Given the description of an element on the screen output the (x, y) to click on. 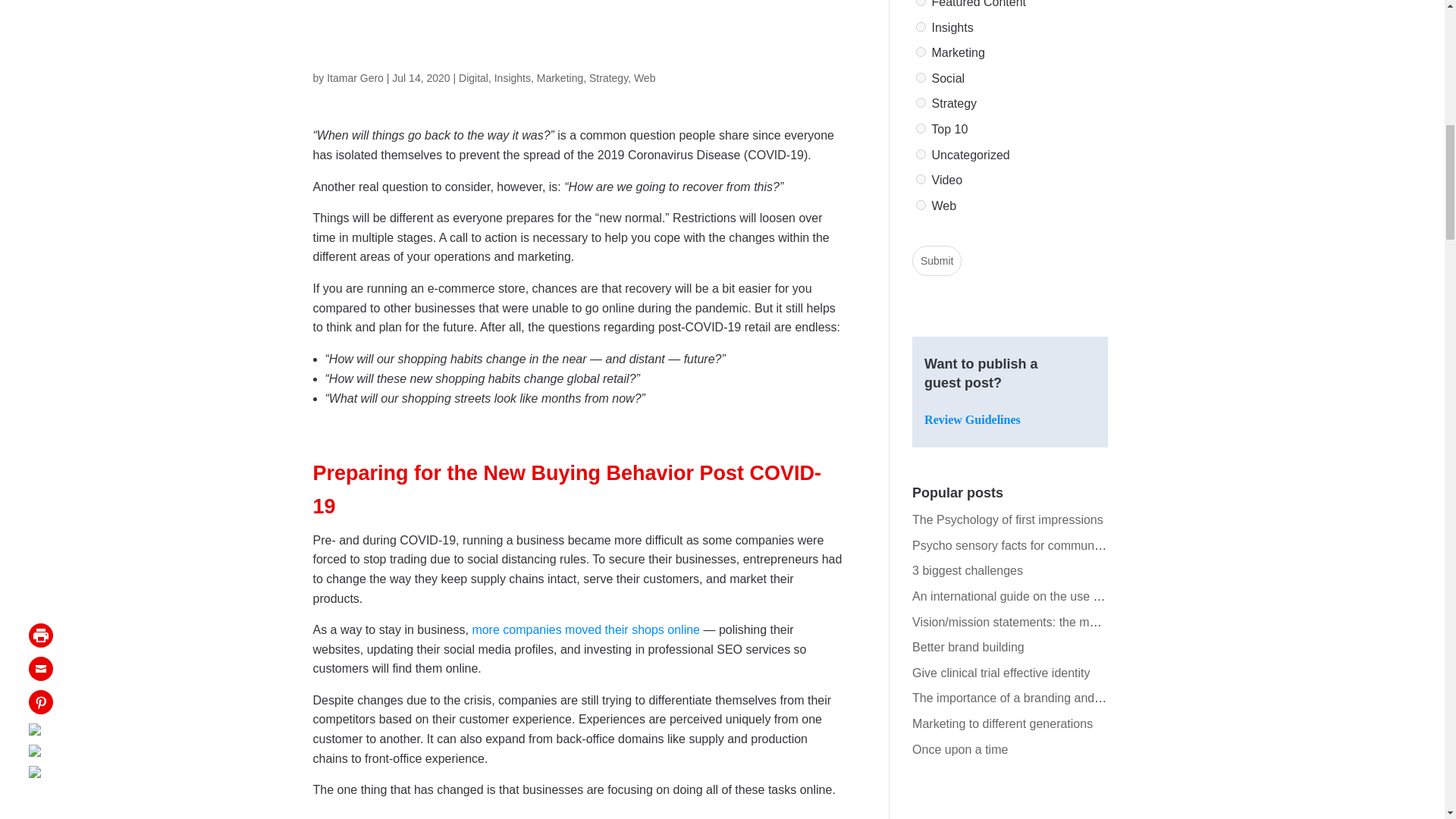
110 (920, 26)
2 (920, 128)
Web (644, 78)
57 (920, 51)
116 (920, 77)
Digital (472, 78)
144 (920, 2)
Itamar Gero (355, 78)
Strategy (608, 78)
1 (920, 153)
